Given the description of an element on the screen output the (x, y) to click on. 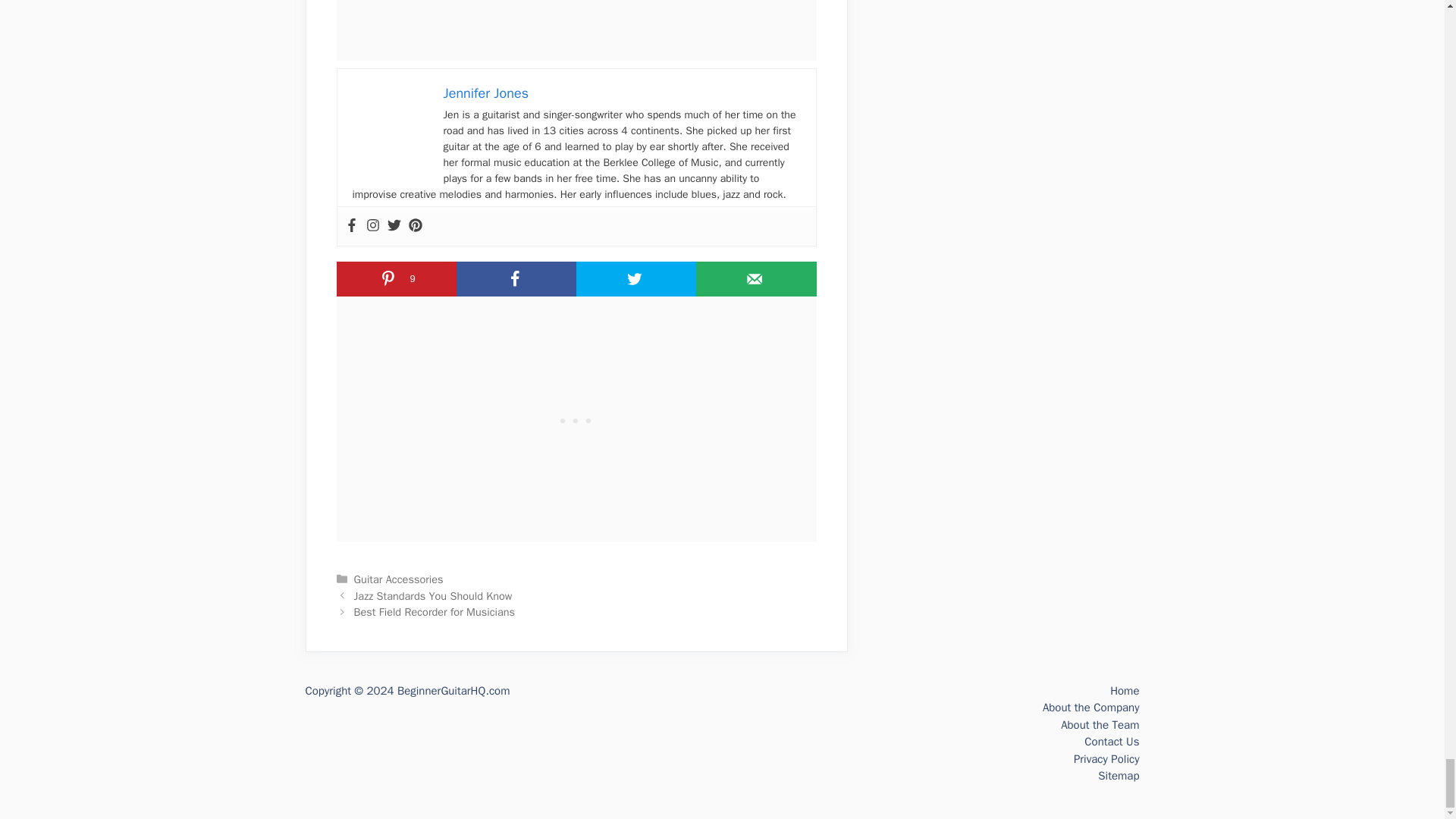
Share on Twitter (635, 278)
Send over email (755, 278)
Save to Pinterest (396, 278)
Jennifer Jones (485, 93)
Share on Facebook (516, 278)
How to Choose Guitar String Gauges 1 (390, 121)
